Given the description of an element on the screen output the (x, y) to click on. 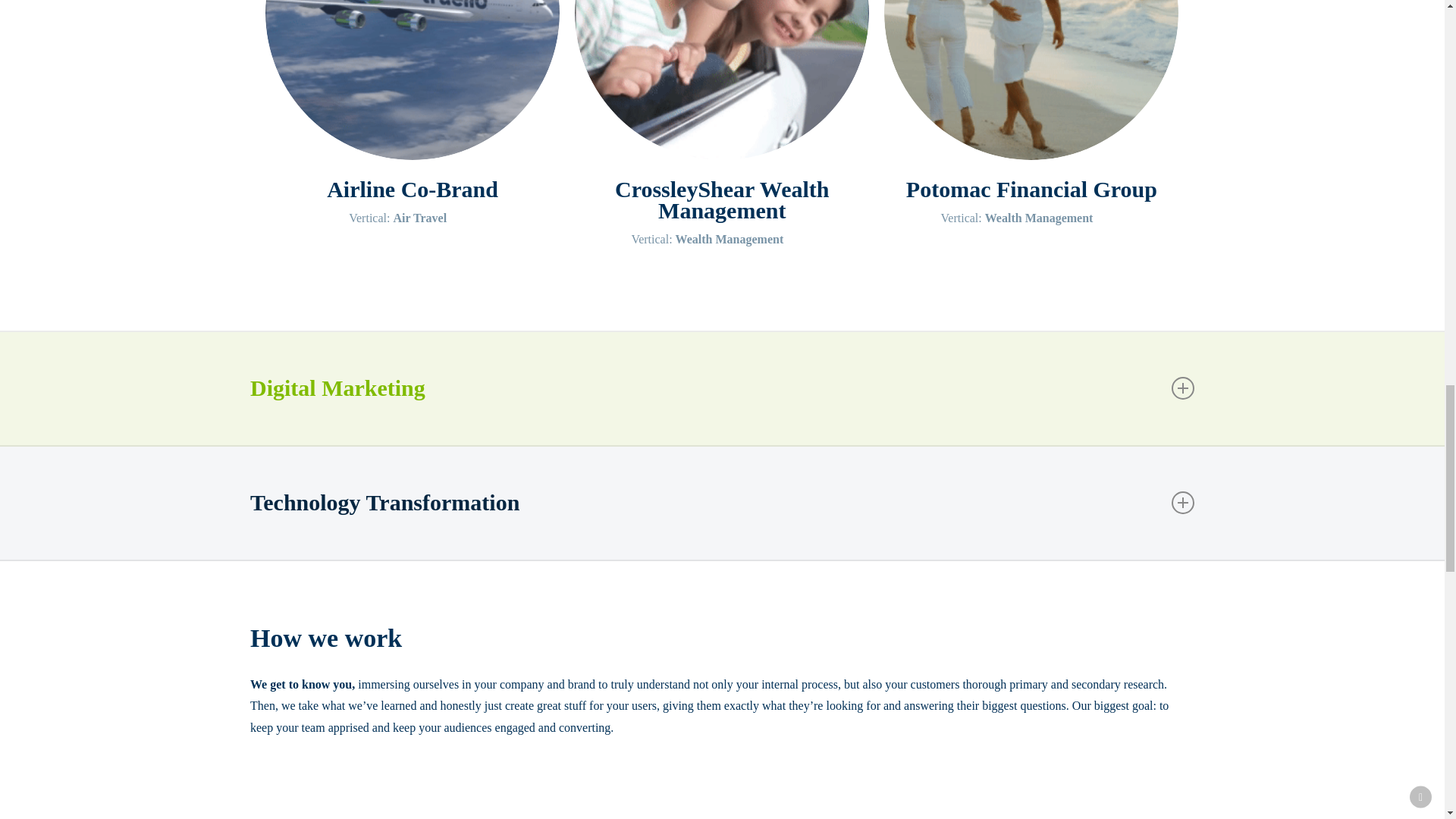
Potomac Financial Group (1030, 189)
Digital Marketing (721, 388)
Technology Transformation (721, 503)
CrossleyShear Wealth Management (722, 200)
Airline Co-Brand (411, 189)
